Given the description of an element on the screen output the (x, y) to click on. 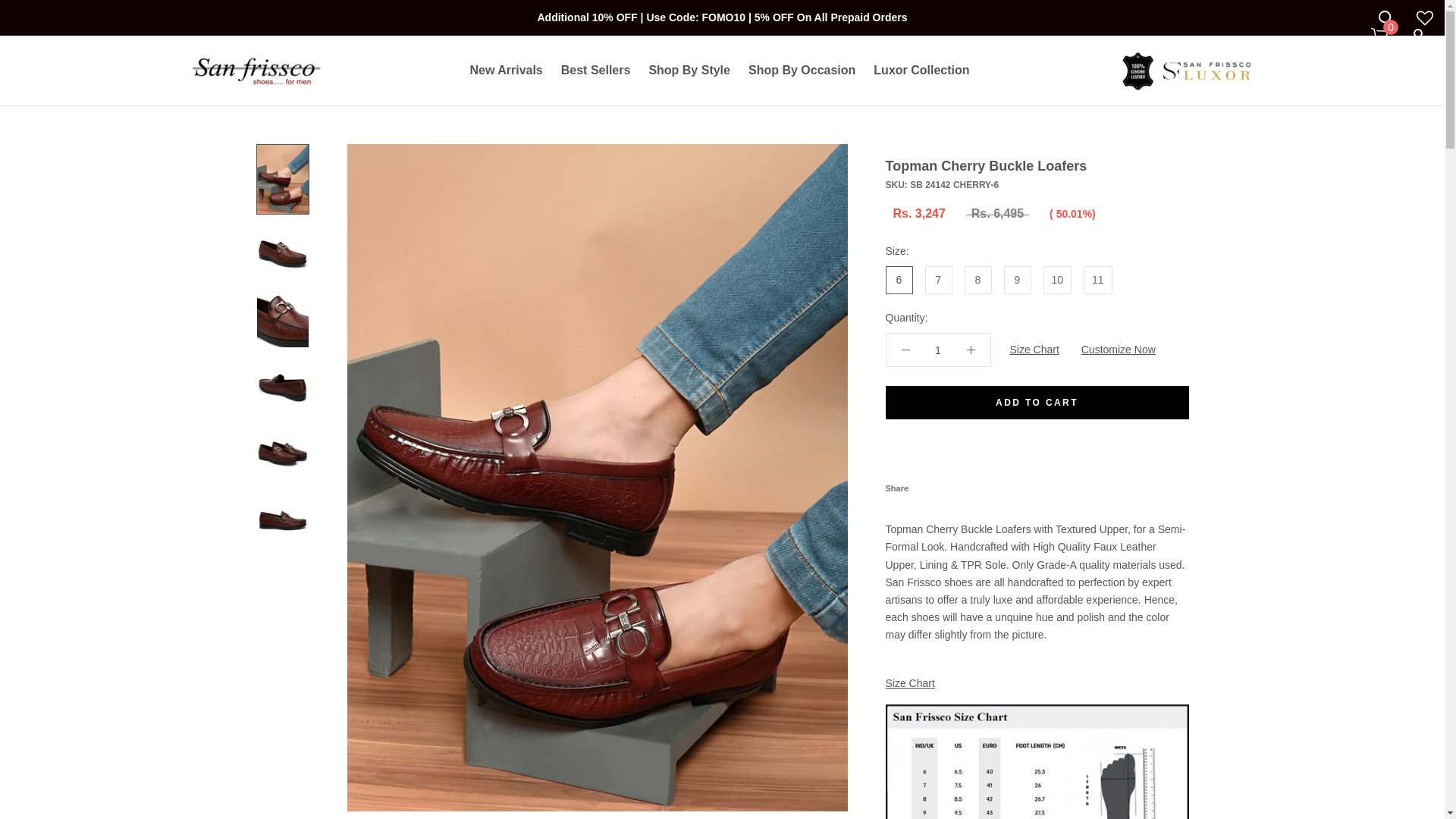
0 (1380, 34)
1 (938, 349)
